Given the description of an element on the screen output the (x, y) to click on. 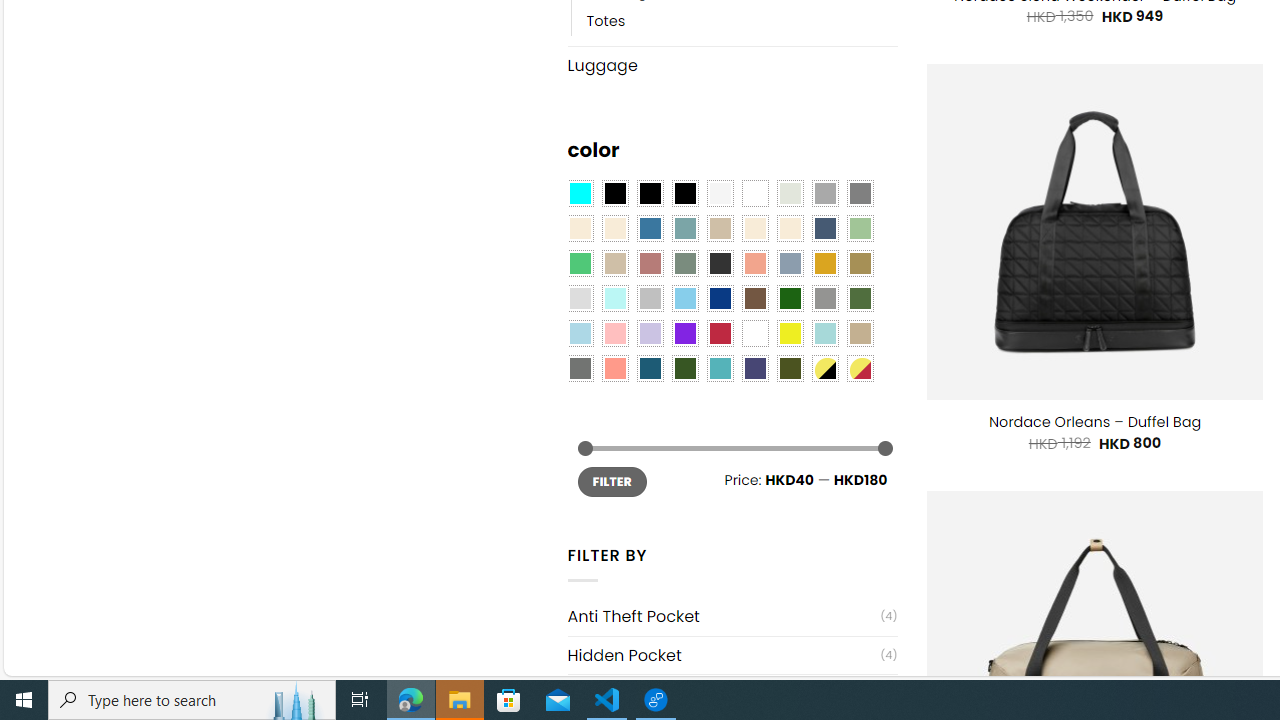
Hidden Pocket (723, 655)
Forest (684, 368)
Light Blue (579, 334)
Sage (684, 264)
Ash Gray (789, 193)
Pearly White (719, 193)
Gold (824, 264)
Totes (605, 20)
Anti Theft Pocket (723, 616)
Sky Blue (684, 298)
White (755, 334)
Blue Sage (684, 228)
Pink (614, 334)
Dark Gray (824, 193)
Luggage (732, 65)
